Given the description of an element on the screen output the (x, y) to click on. 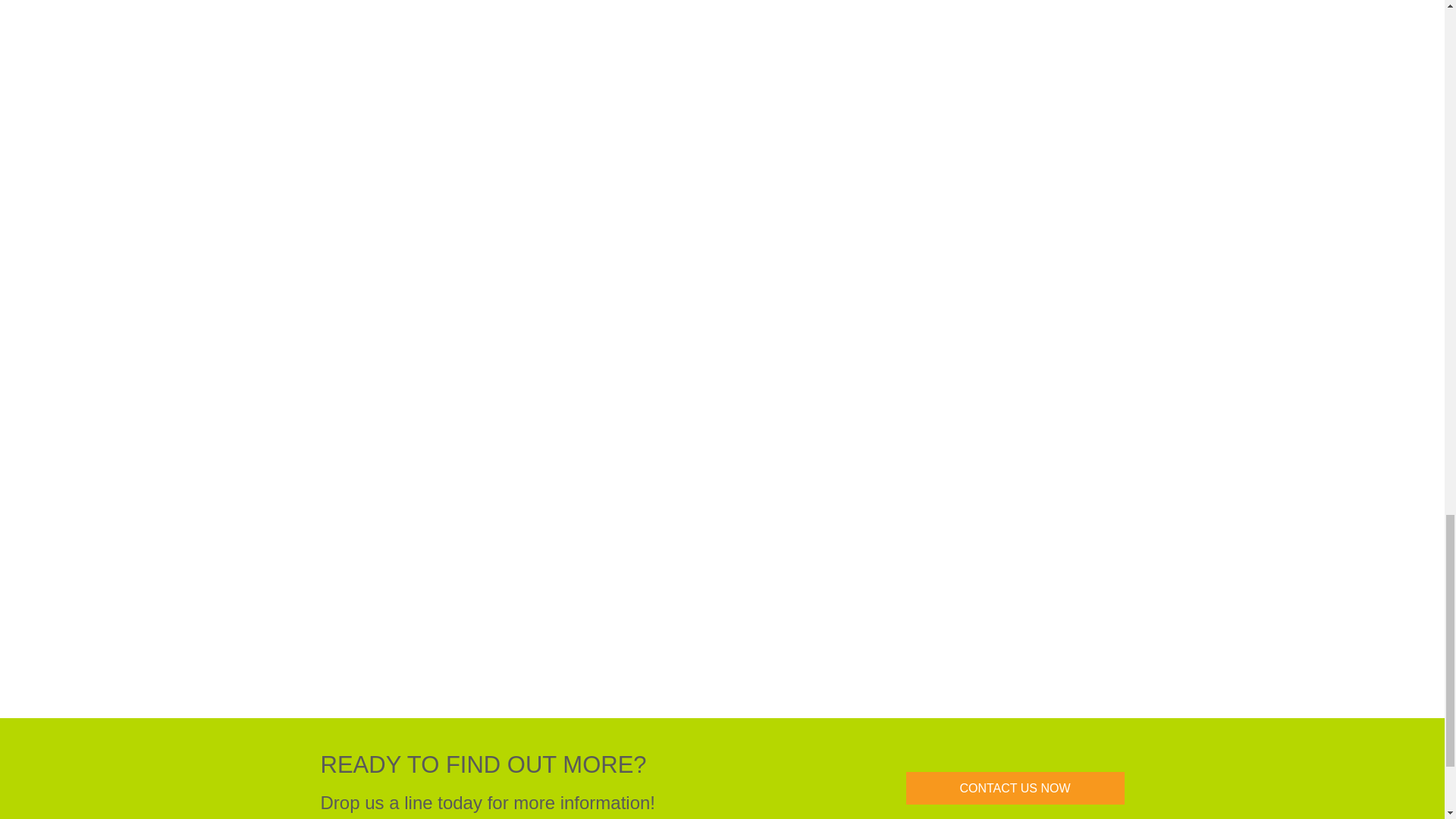
CONTACT US NOW (1014, 788)
